Given the description of an element on the screen output the (x, y) to click on. 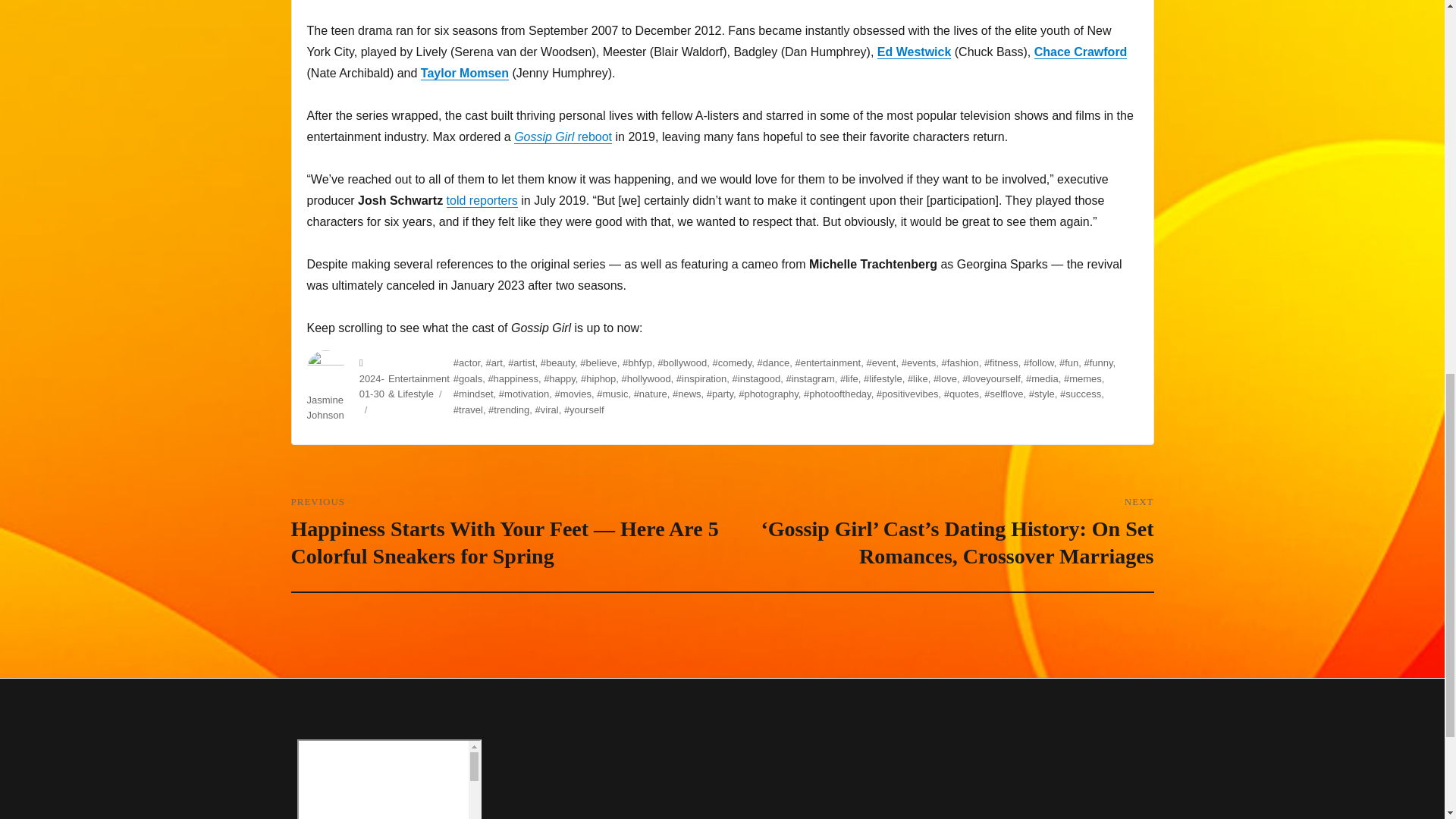
told reporters (482, 200)
Gossip Girl reboot (562, 136)
amazing (389, 779)
Chace Crawford (1079, 51)
Ed Westwick (914, 51)
Taylor Momsen (464, 72)
2024-01-30 (371, 386)
Jasmine Johnson (324, 407)
